Given the description of an element on the screen output the (x, y) to click on. 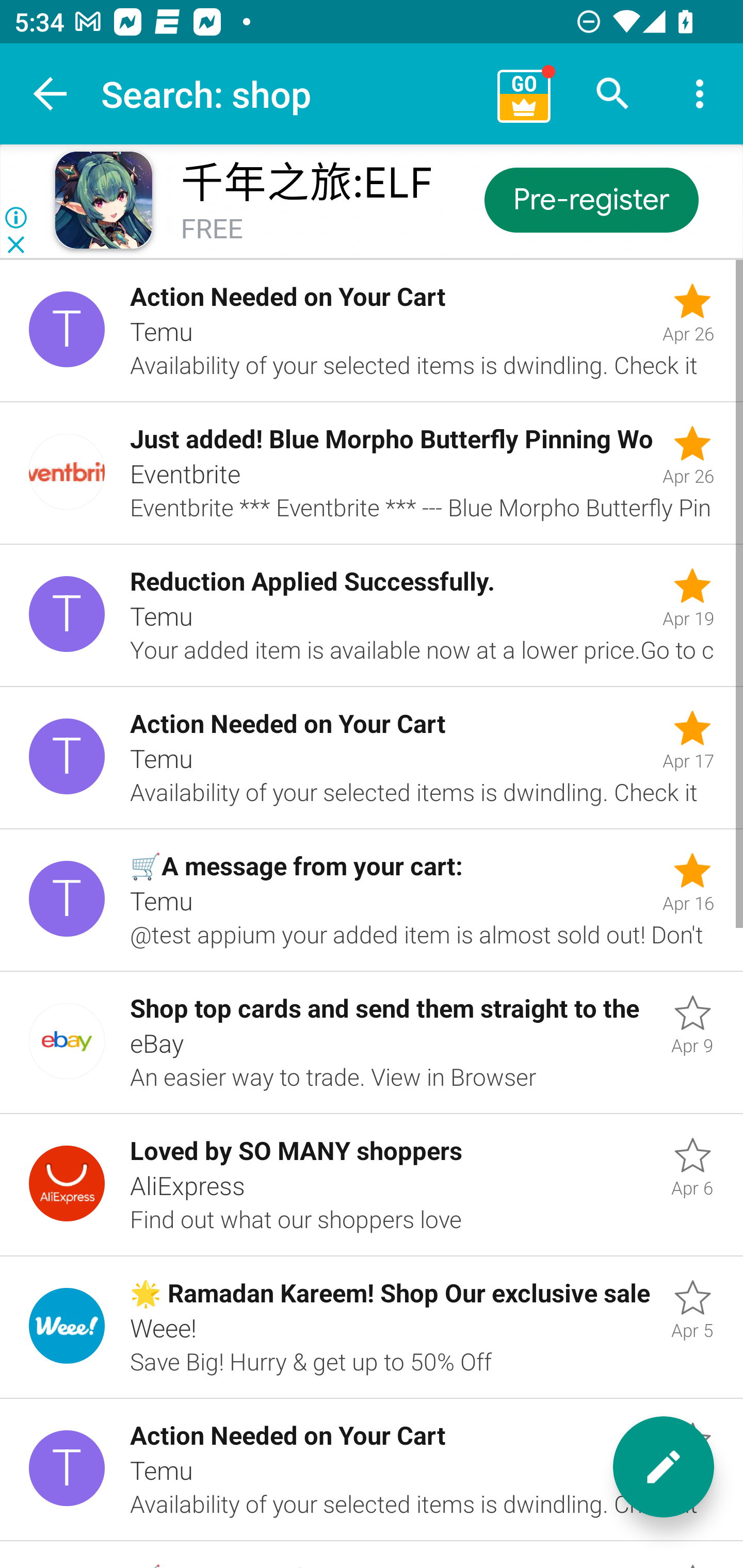
Navigate up (50, 93)
Search (612, 93)
More options (699, 93)
千年之旅:ELF (306, 183)
Pre-register (590, 199)
FREE (211, 230)
New message (663, 1466)
